Given the description of an element on the screen output the (x, y) to click on. 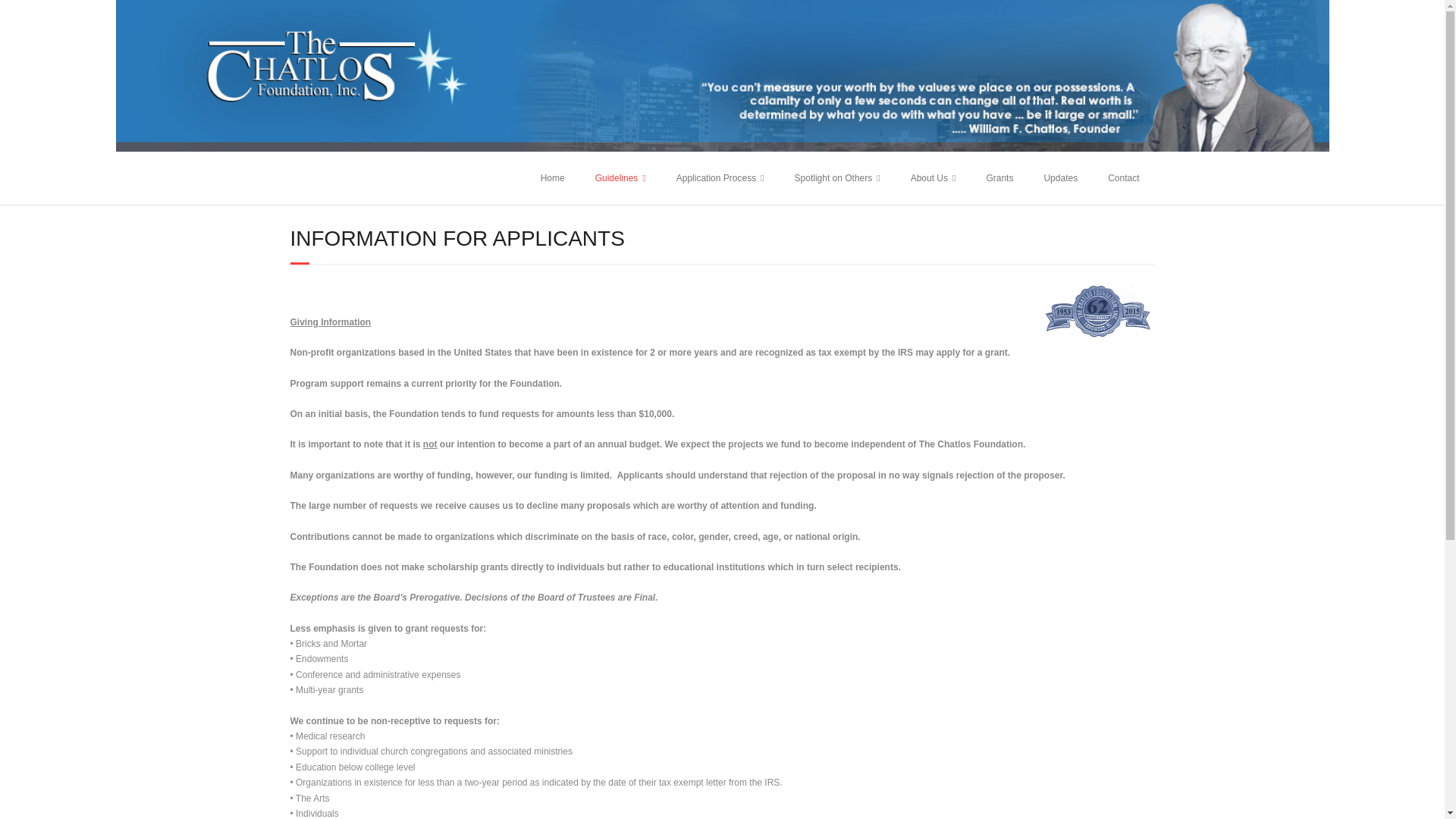
Home (552, 177)
Guidelines (620, 177)
Grants (999, 177)
Spotlight on Others (836, 177)
Application Process (719, 177)
Updates (1060, 177)
About Us (933, 177)
Contact (1123, 177)
